Given the description of an element on the screen output the (x, y) to click on. 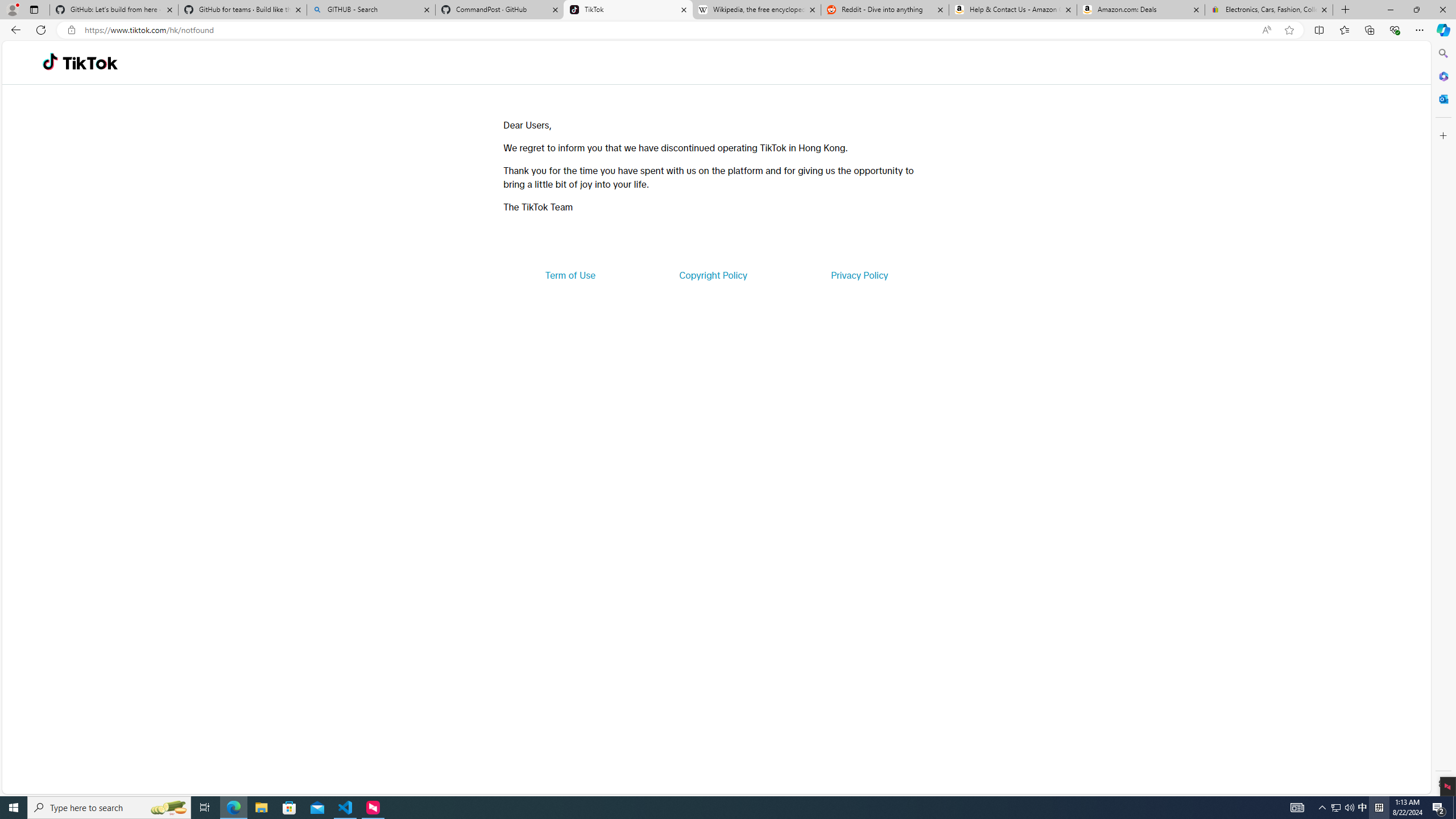
TikTok (89, 62)
Wikipedia, the free encyclopedia (756, 9)
Term of Use (569, 274)
Amazon.com: Deals (1140, 9)
